Given the description of an element on the screen output the (x, y) to click on. 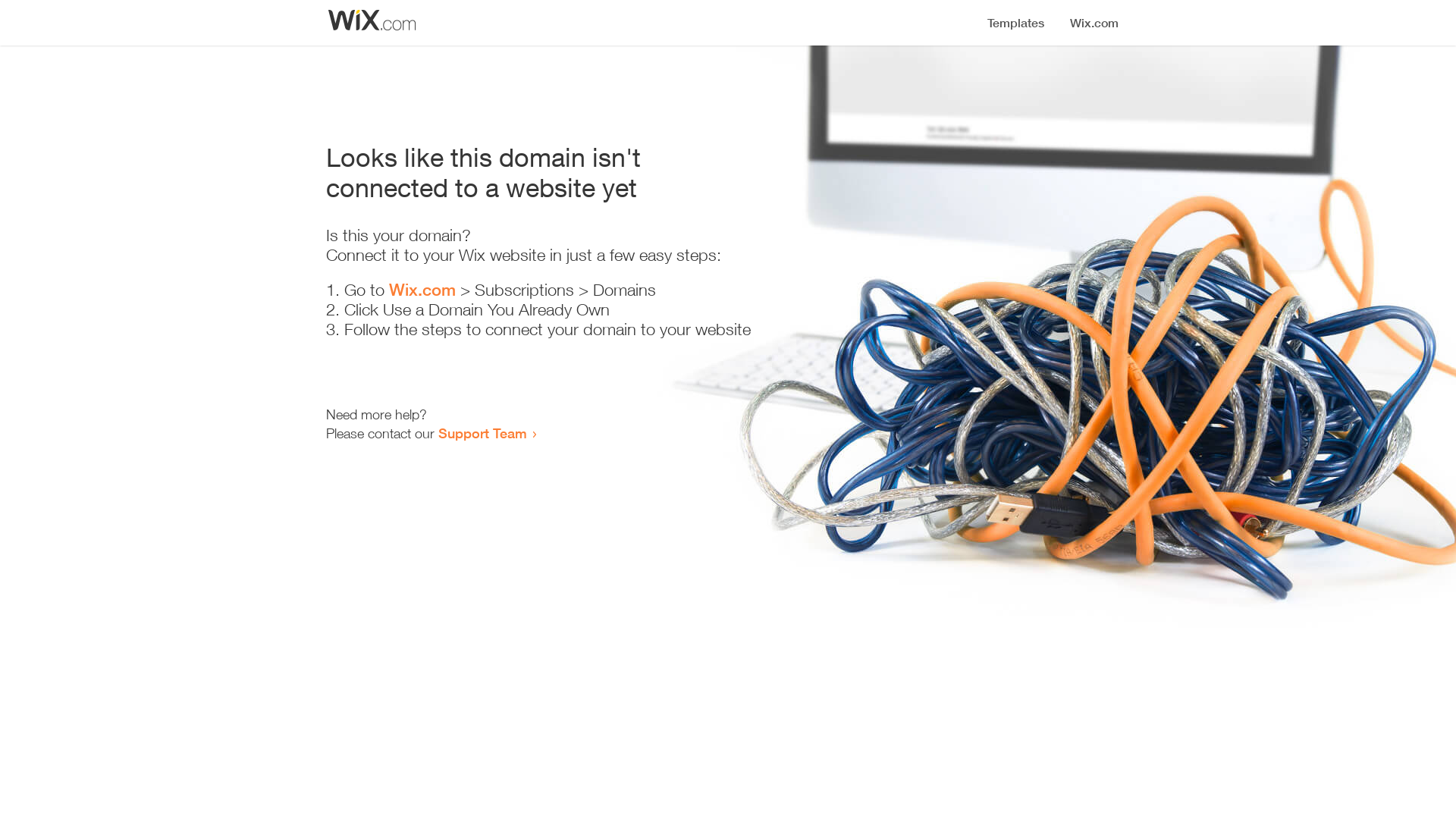
Wix.com Element type: text (422, 289)
Support Team Element type: text (482, 432)
